Given the description of an element on the screen output the (x, y) to click on. 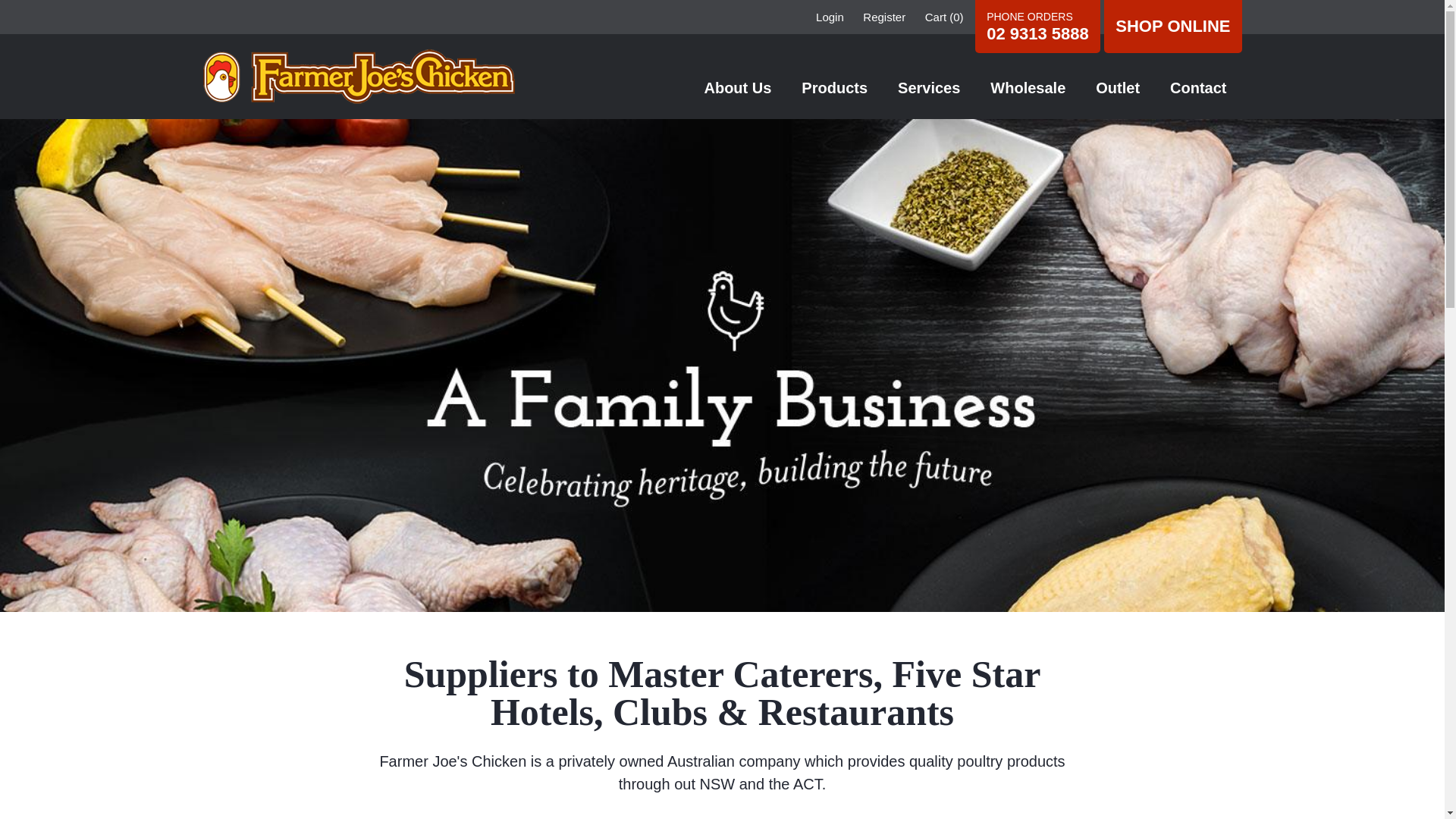
Login Element type: text (829, 16)
SHOP ONLINE Element type: text (1172, 26)
Services Element type: text (928, 87)
Cart (0) Element type: text (944, 16)
Wholesale Element type: text (1027, 87)
Contact Element type: text (1197, 87)
Products Element type: text (834, 87)
Register Element type: text (883, 16)
PHONE ORDERS
02 9313 5888 Element type: text (1037, 28)
Outlet Element type: text (1117, 87)
Farmer Joe's Chicken Element type: hover (358, 76)
About Us Element type: text (737, 87)
